Given the description of an element on the screen output the (x, y) to click on. 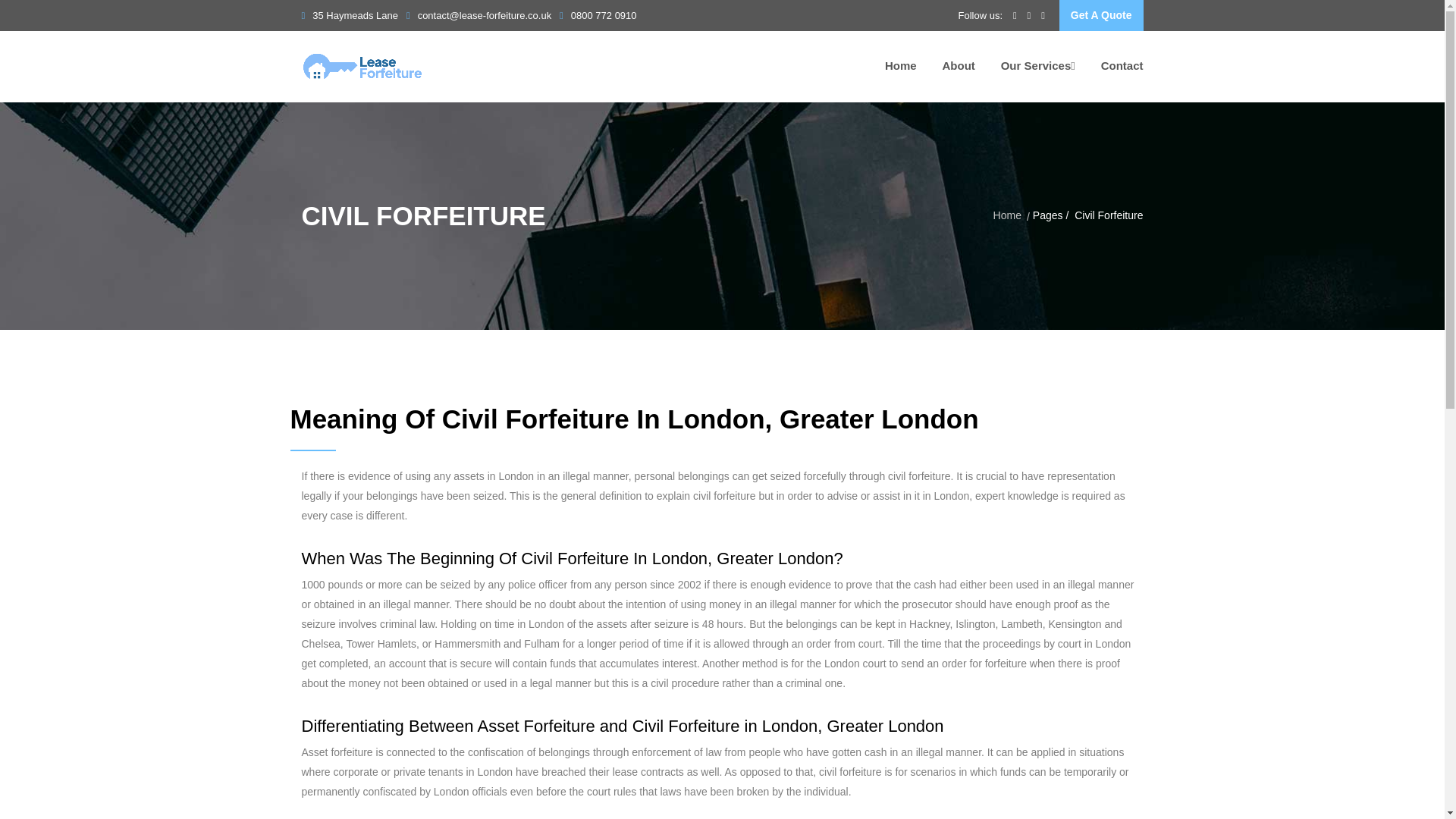
Home (1007, 215)
Get A Quote (1100, 15)
Our Services (1038, 66)
